Given the description of an element on the screen output the (x, y) to click on. 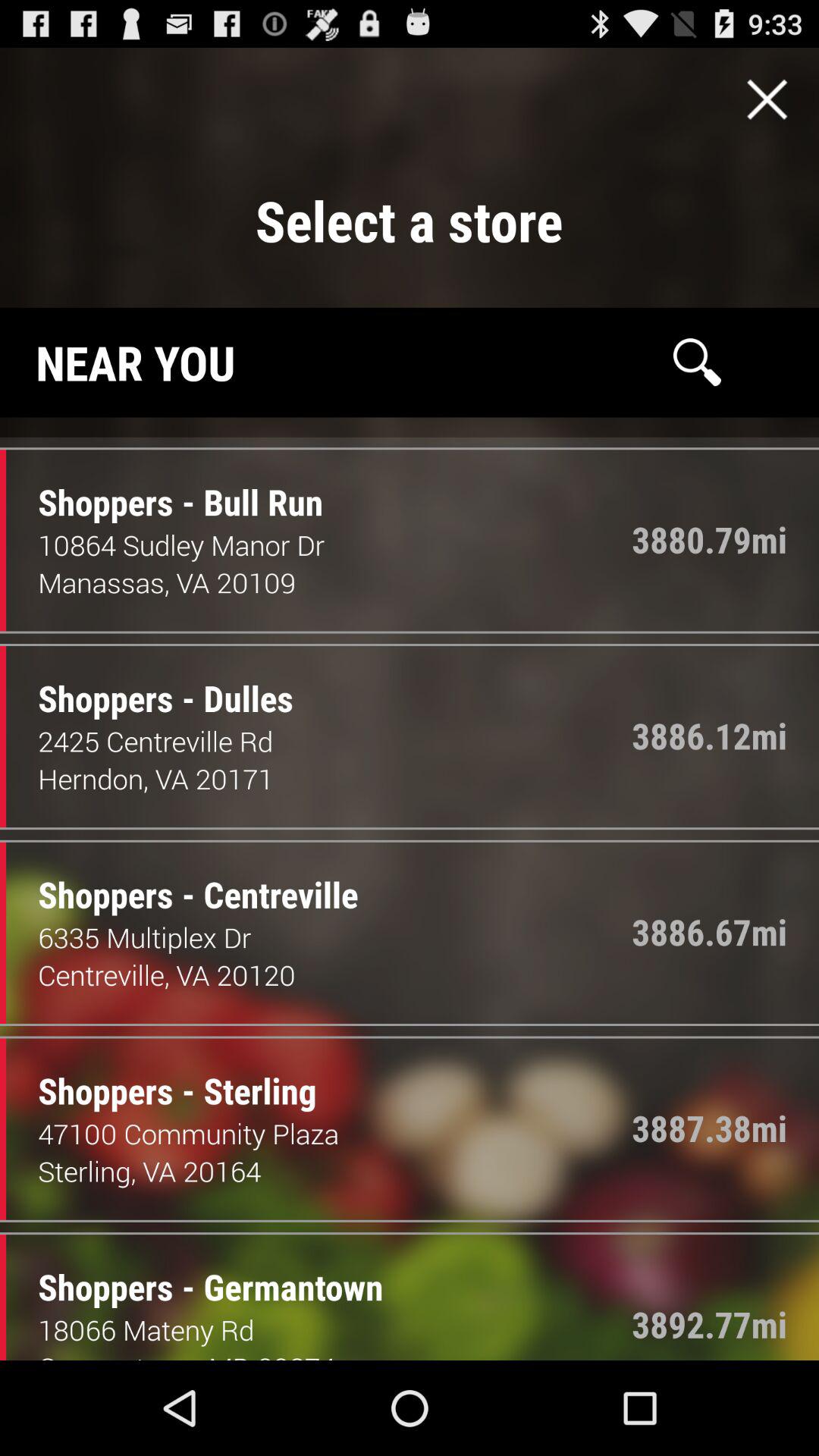
close te page (767, 99)
